Given the description of an element on the screen output the (x, y) to click on. 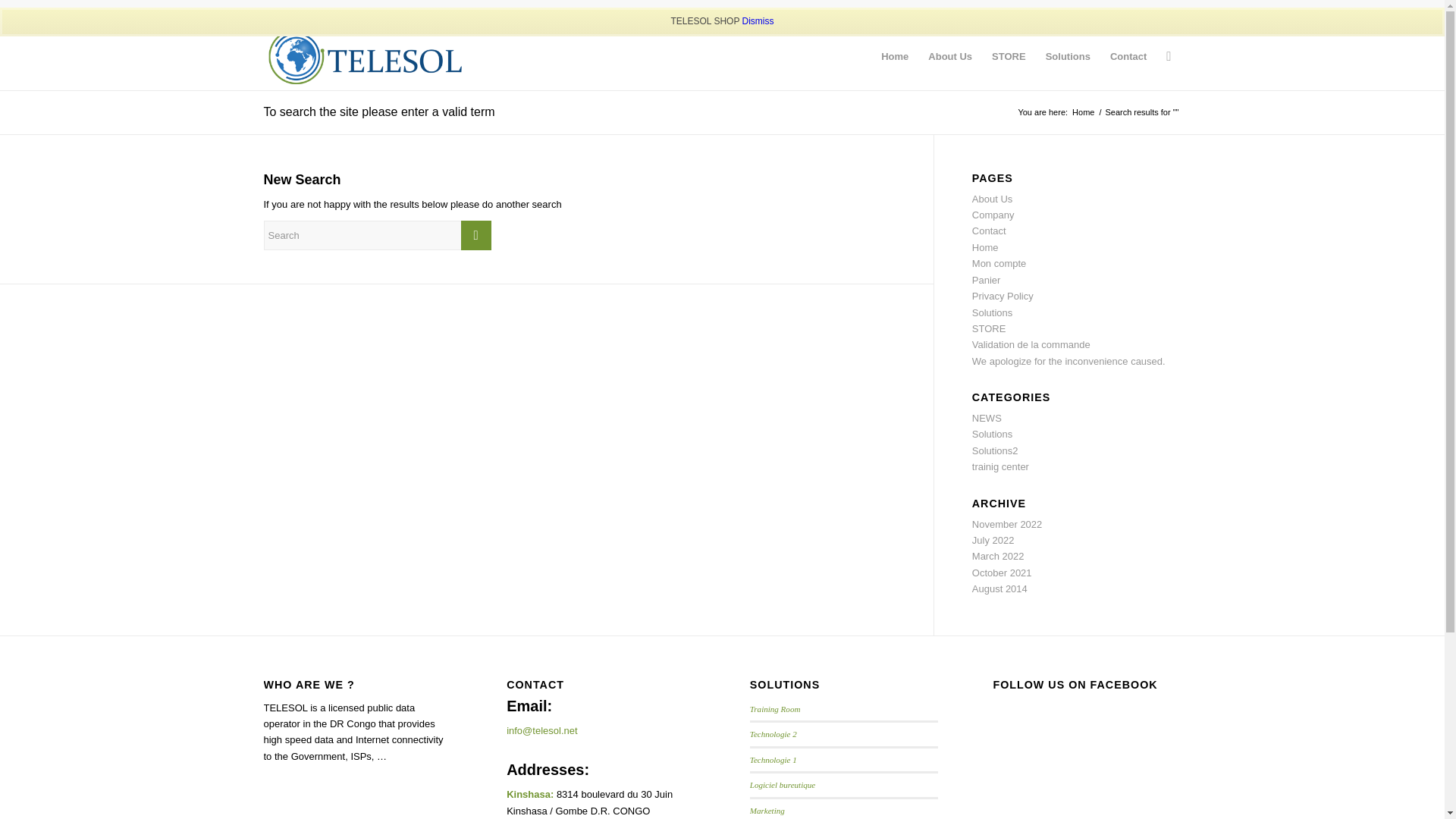
trainig center Element type: text (1000, 466)
Dismiss Element type: text (758, 20)
Validation de la commande Element type: text (1031, 344)
STORE Element type: text (989, 328)
Solutions Element type: text (992, 312)
Company Element type: text (993, 214)
About Us Element type: text (950, 56)
Technologie 2 Element type: text (773, 733)
Technologie 1 Element type: text (773, 759)
NEWS Element type: text (986, 417)
Home Element type: text (1083, 112)
Contact Element type: text (989, 230)
Mon compte Element type: text (999, 263)
We apologize for the inconvenience caused. Element type: text (1068, 361)
Contact Element type: text (1128, 56)
Home Element type: text (894, 56)
July 2022 Element type: text (993, 540)
Panier Element type: text (986, 279)
August 2014 Element type: text (999, 588)
November 2022 Element type: text (1007, 524)
About Us Element type: text (992, 198)
October 2021 Element type: text (1002, 572)
Solutions Element type: text (992, 433)
March 2022 Element type: text (998, 555)
Logiciel bureutique Element type: text (782, 784)
Training Room Element type: text (774, 708)
STORE Element type: text (1008, 56)
Marketing Element type: text (766, 810)
Solutions2 Element type: text (995, 450)
Solutions Element type: text (1067, 56)
Home Element type: text (985, 247)
info@telesol.net Element type: text (541, 730)
Privacy Policy Element type: text (1002, 295)
